Given the description of an element on the screen output the (x, y) to click on. 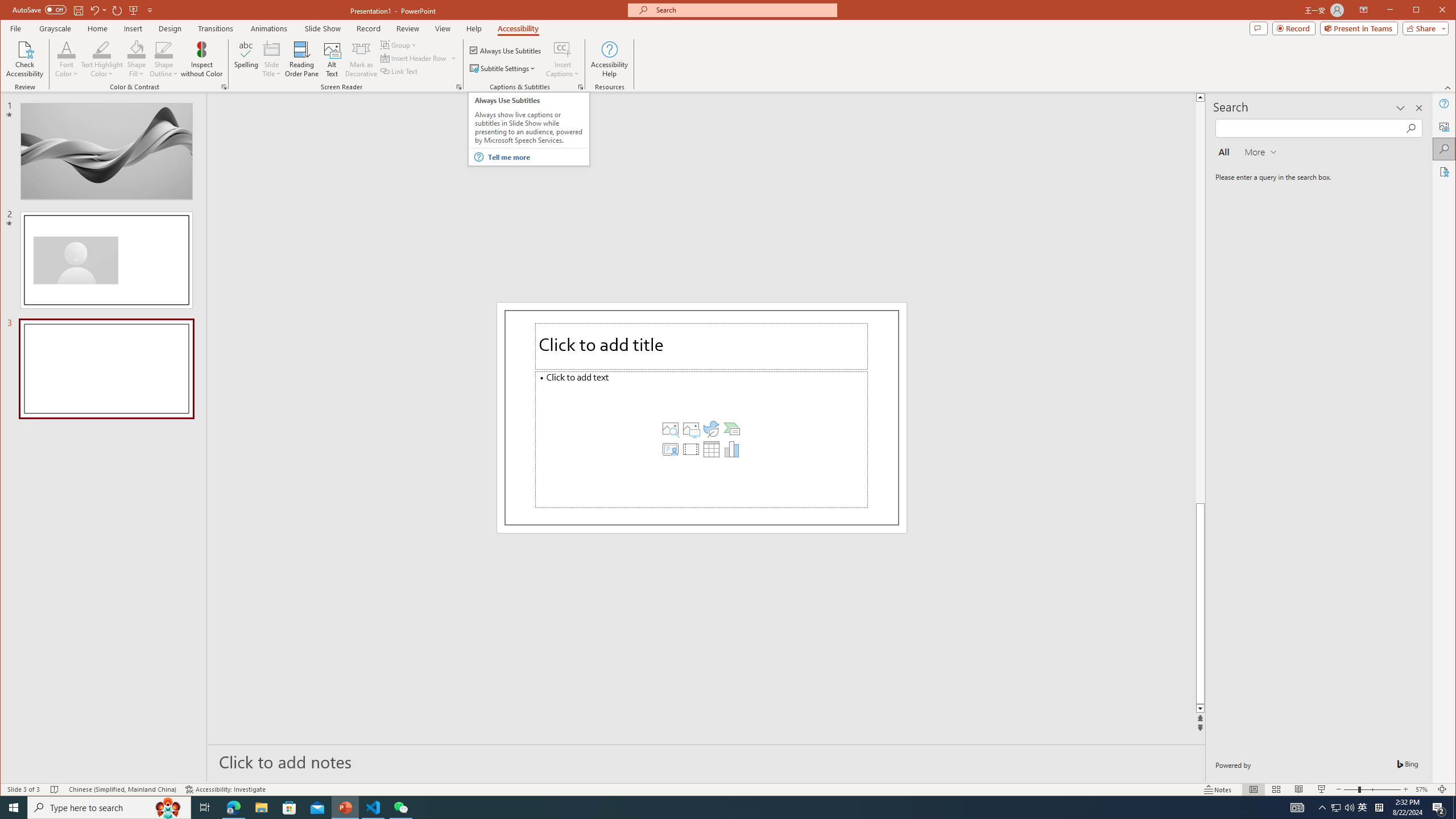
Insert Header Row (418, 57)
Insert Captions (562, 48)
Insert Video (690, 449)
Insert Cameo (670, 449)
Stock Images (670, 428)
Inspect without Color (201, 59)
Captions & Subtitles (580, 86)
